Given the description of an element on the screen output the (x, y) to click on. 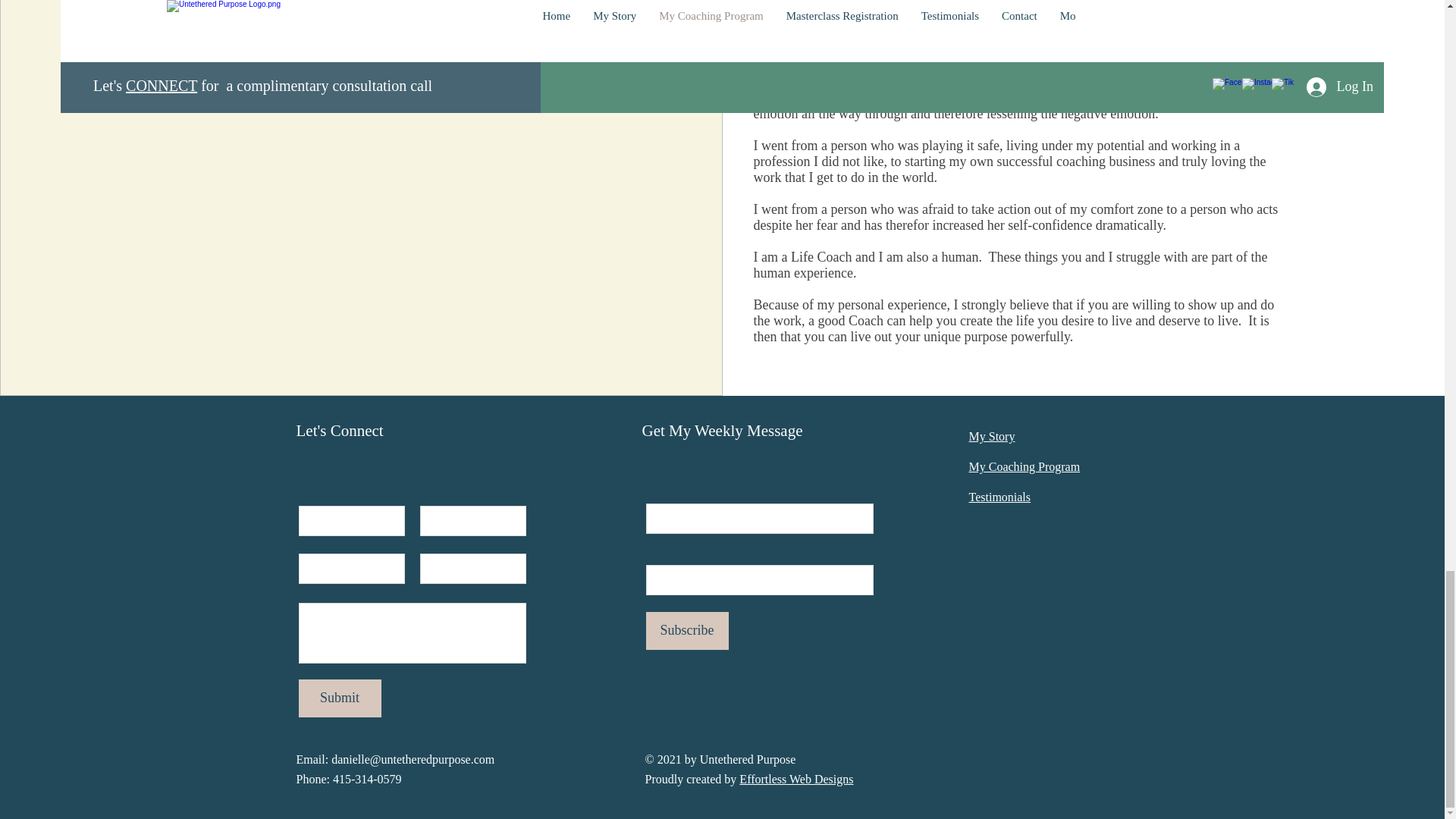
Submit (339, 698)
Testimonials (999, 496)
Subscribe (687, 630)
My Coaching Program (1024, 466)
Effortless Web Designs (796, 779)
My Story (991, 436)
